Given the description of an element on the screen output the (x, y) to click on. 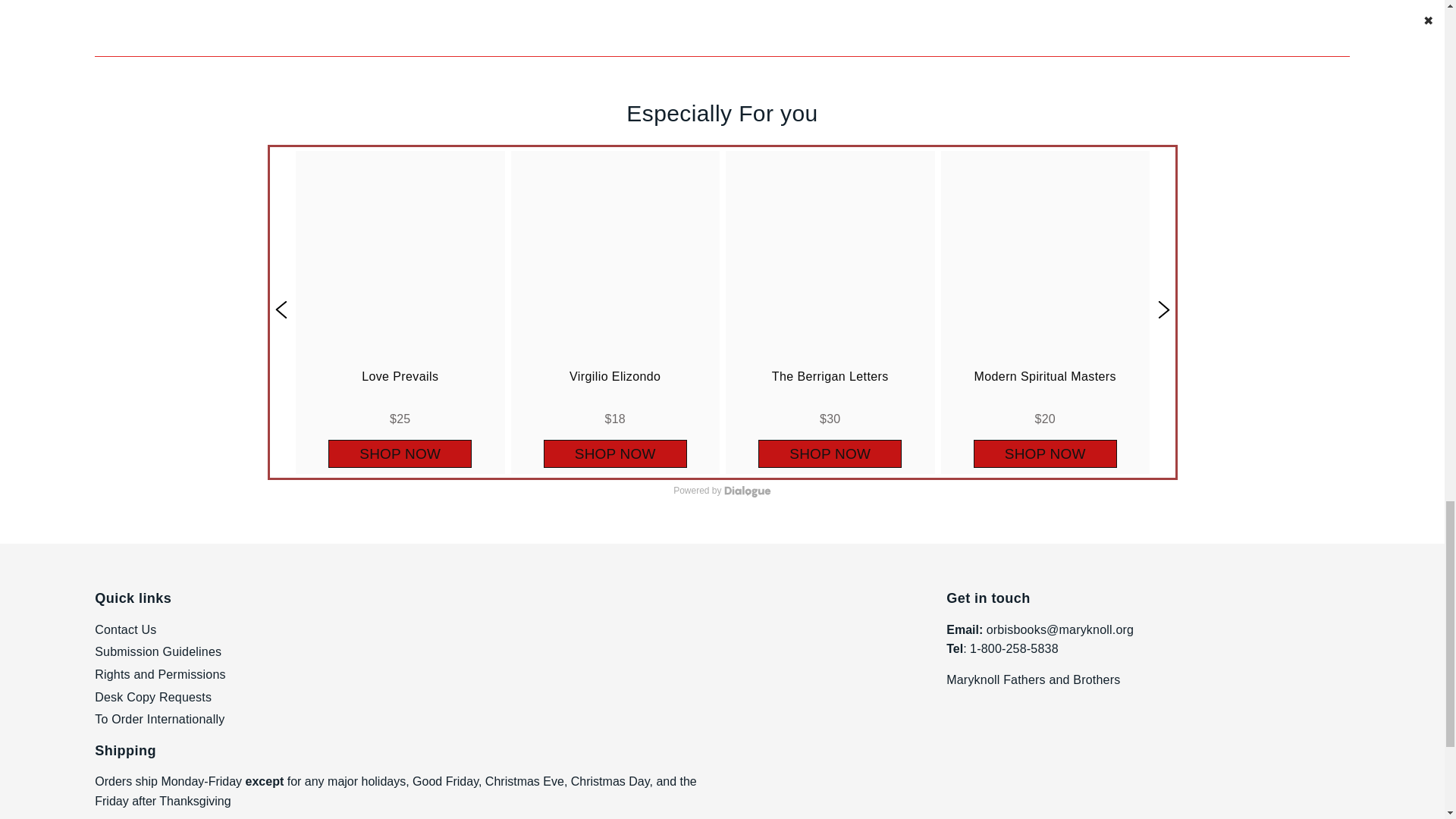
SHOP NOW (614, 453)
SHOP NOW (829, 453)
SHOP NOW (400, 453)
